Given the description of an element on the screen output the (x, y) to click on. 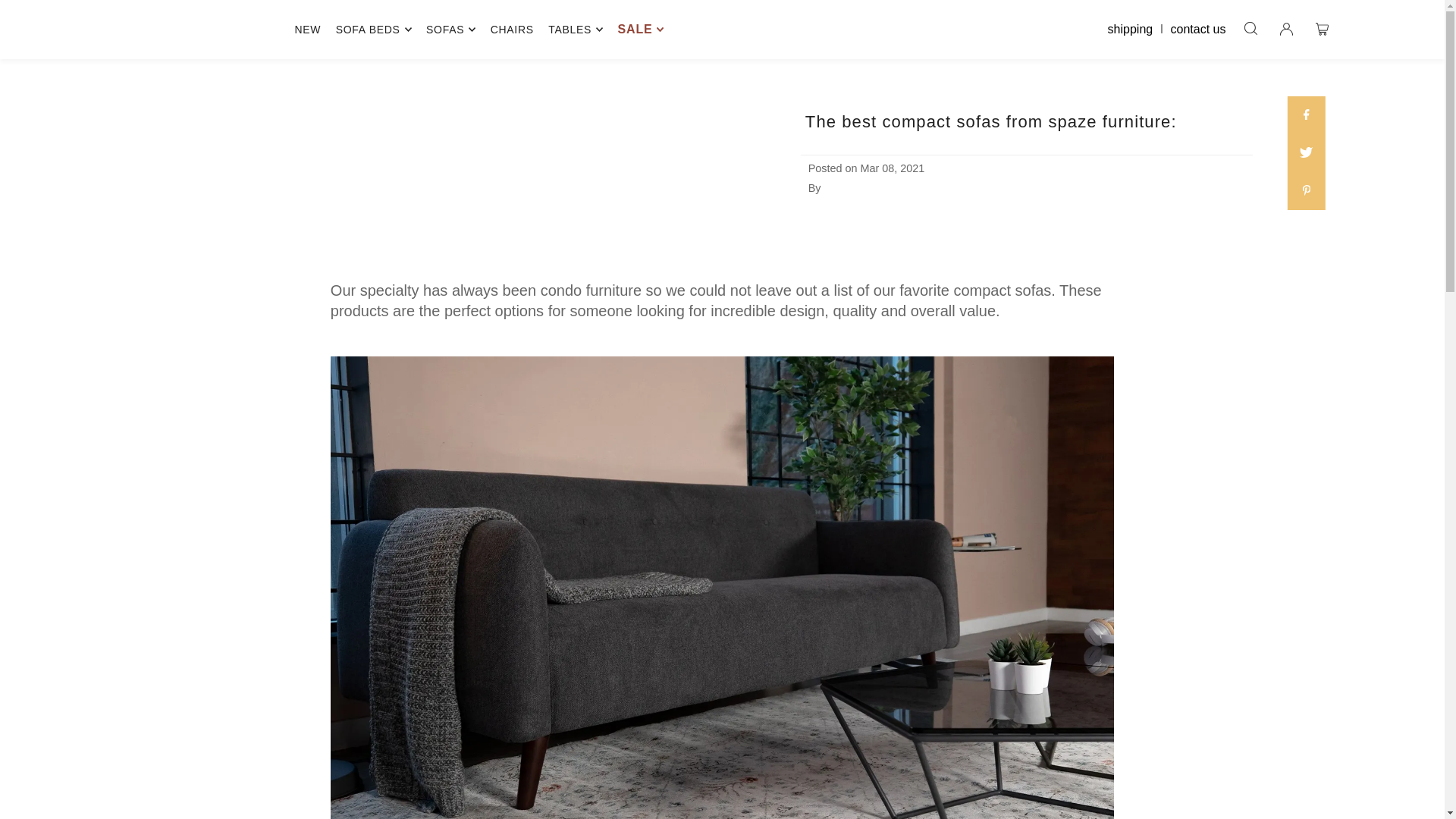
Share on Facebook (1305, 115)
Share on Twitter (1305, 152)
Share on Pinterest (1305, 190)
SOFA BEDS (374, 29)
SPAZE Shipping (1134, 29)
